Given the description of an element on the screen output the (x, y) to click on. 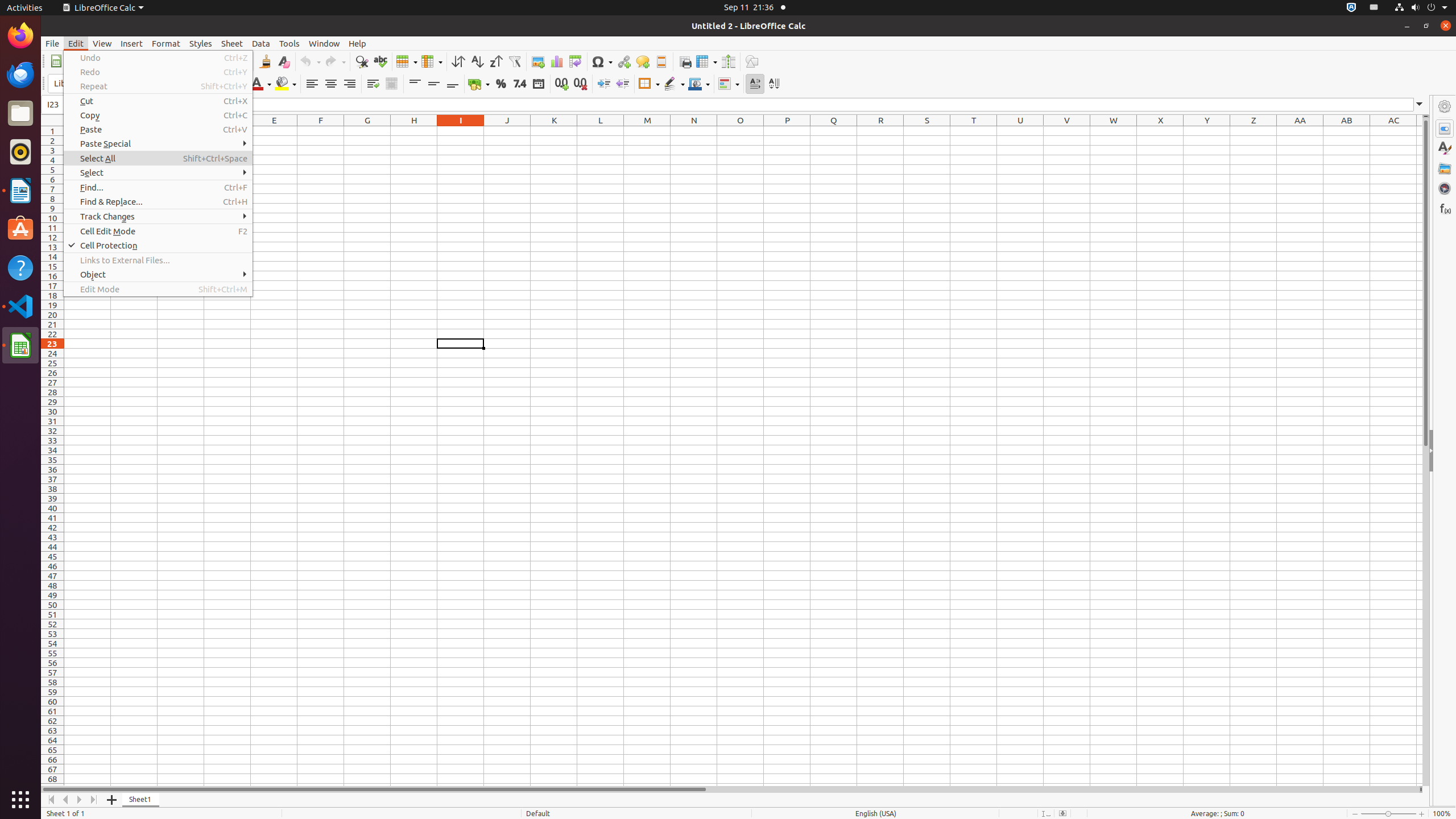
Q1 Element type: table-cell (833, 130)
J1 Element type: table-cell (507, 130)
Chart Element type: push-button (556, 61)
R1 Element type: table-cell (880, 130)
